Given the description of an element on the screen output the (x, y) to click on. 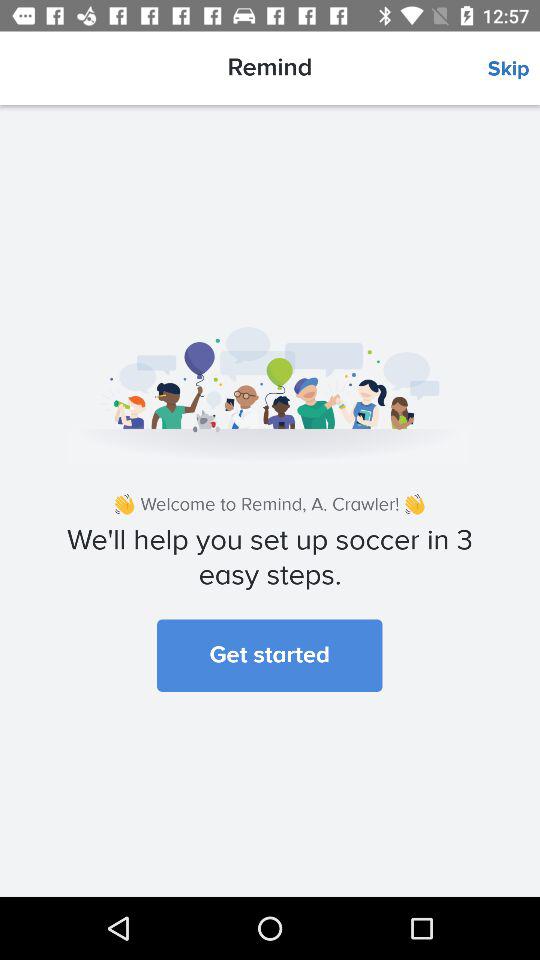
swipe until the get started (269, 655)
